Given the description of an element on the screen output the (x, y) to click on. 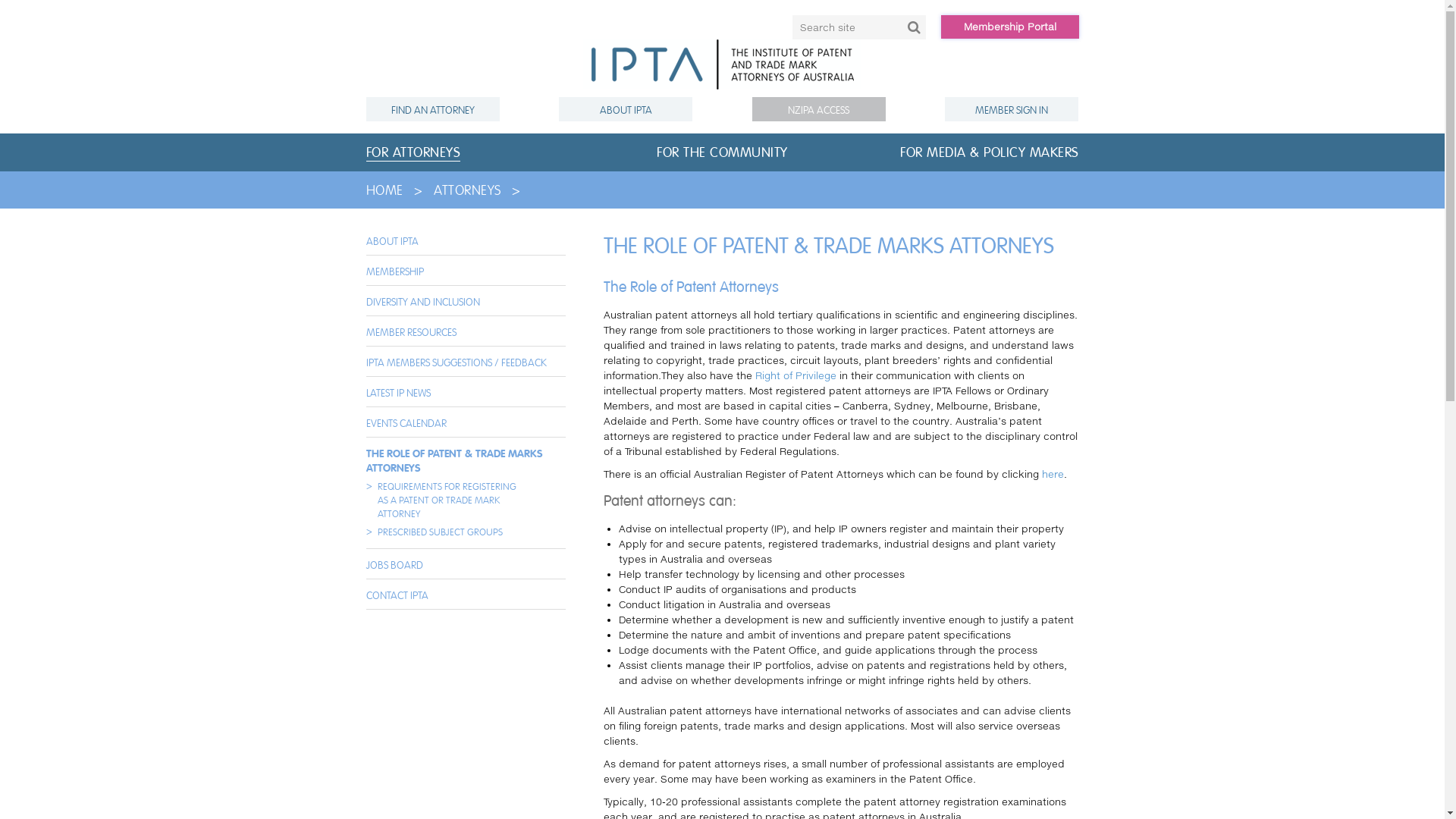
NZIPA ACCESS Element type: text (818, 109)
Right of Privilege Element type: text (795, 375)
EVENTS CALENDAR Element type: text (405, 422)
FOR ATTORNEYS Element type: text (412, 152)
MEMBER SIGN IN Element type: text (1011, 109)
CONTACT IPTA Element type: text (396, 595)
FIND AN ATTORNEY Element type: text (431, 109)
MEMBER RESOURCES Element type: text (410, 331)
THE ROLE OF PATENT & TRADE MARKS ATTORNEYS Element type: text (453, 460)
ABOUT IPTA Element type: text (391, 240)
DIVERSITY AND INCLUSION Element type: text (422, 301)
LATEST IP NEWS Element type: text (397, 392)
ATTORNEYS Element type: text (467, 190)
FOR MEDIA & POLICY MAKERS Element type: text (989, 152)
IPTA MEMBERS SUGGESTIONS / FEEDBACK Element type: text (455, 362)
FOR THE COMMUNITY Element type: text (721, 152)
Membership Portal Element type: text (1009, 26)
here Element type: text (1052, 473)
PRESCRIBED SUBJECT GROUPS Element type: text (439, 532)
JOBS BOARD Element type: text (393, 564)
HOME Element type: text (383, 190)
ABOUT IPTA Element type: text (625, 109)
MEMBERSHIP Element type: text (394, 271)
